Given the description of an element on the screen output the (x, y) to click on. 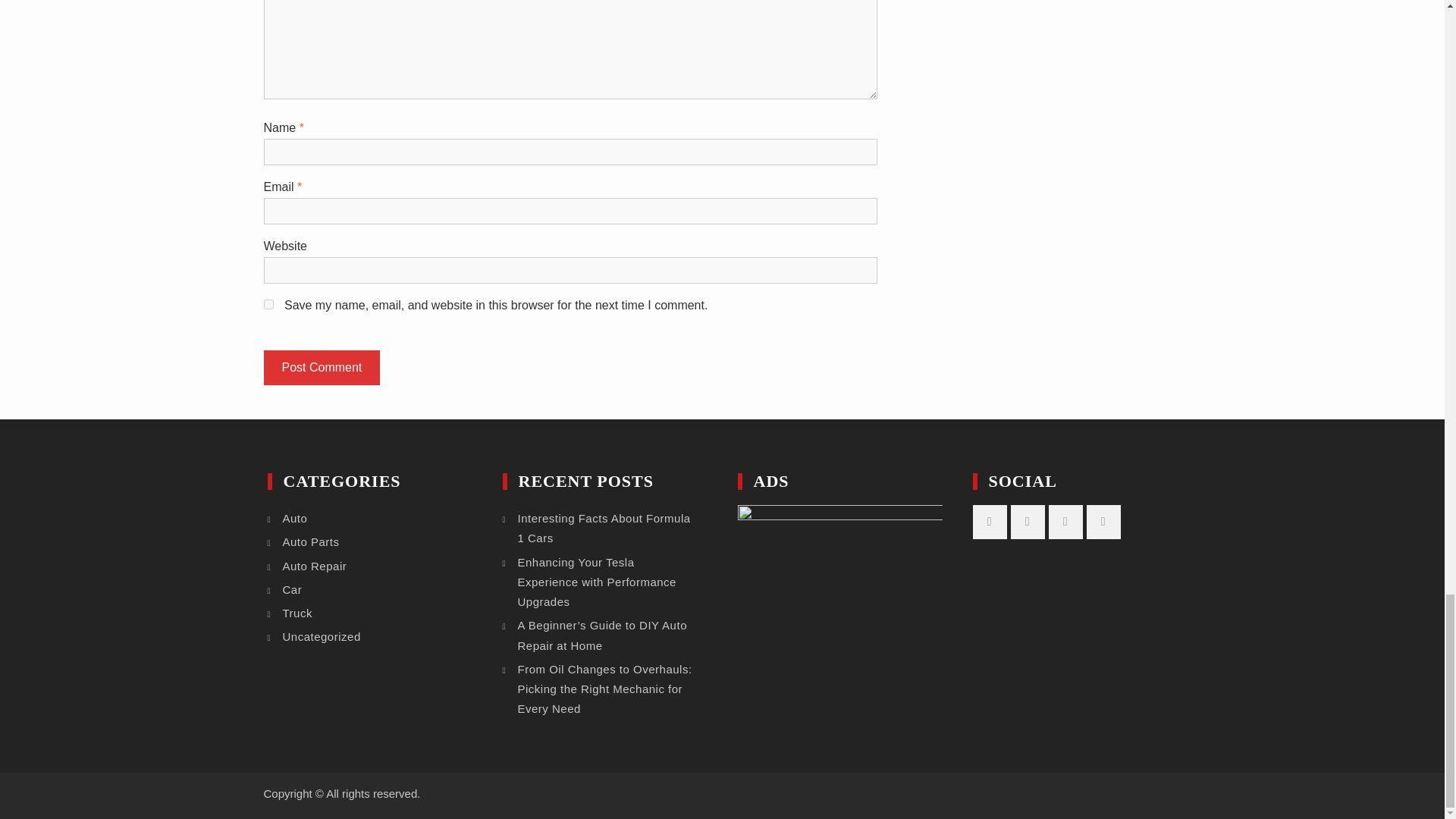
Post Comment (321, 367)
yes (268, 304)
Post Comment (321, 367)
